Given the description of an element on the screen output the (x, y) to click on. 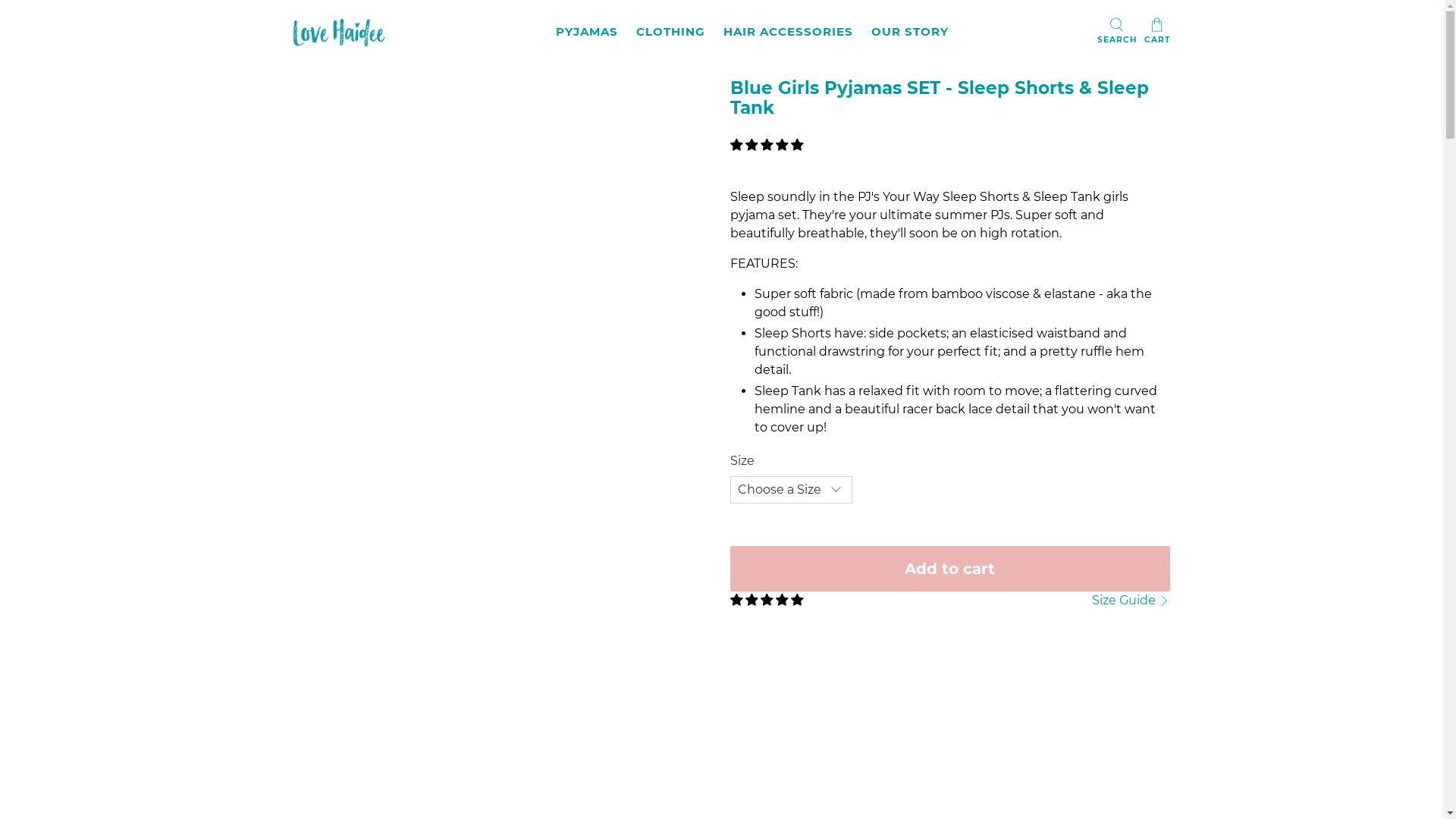
SEARCH Element type: text (1116, 31)
CART Element type: text (1156, 31)
CLOTHING Element type: text (669, 32)
Love Haidee Element type: hover (342, 31)
OUR STORY Element type: text (909, 32)
Add to cart Element type: text (949, 568)
PYJAMAS Element type: text (586, 32)
HAIR ACCESSORIES Element type: text (788, 32)
Size Guide Element type: text (1130, 600)
